Given the description of an element on the screen output the (x, y) to click on. 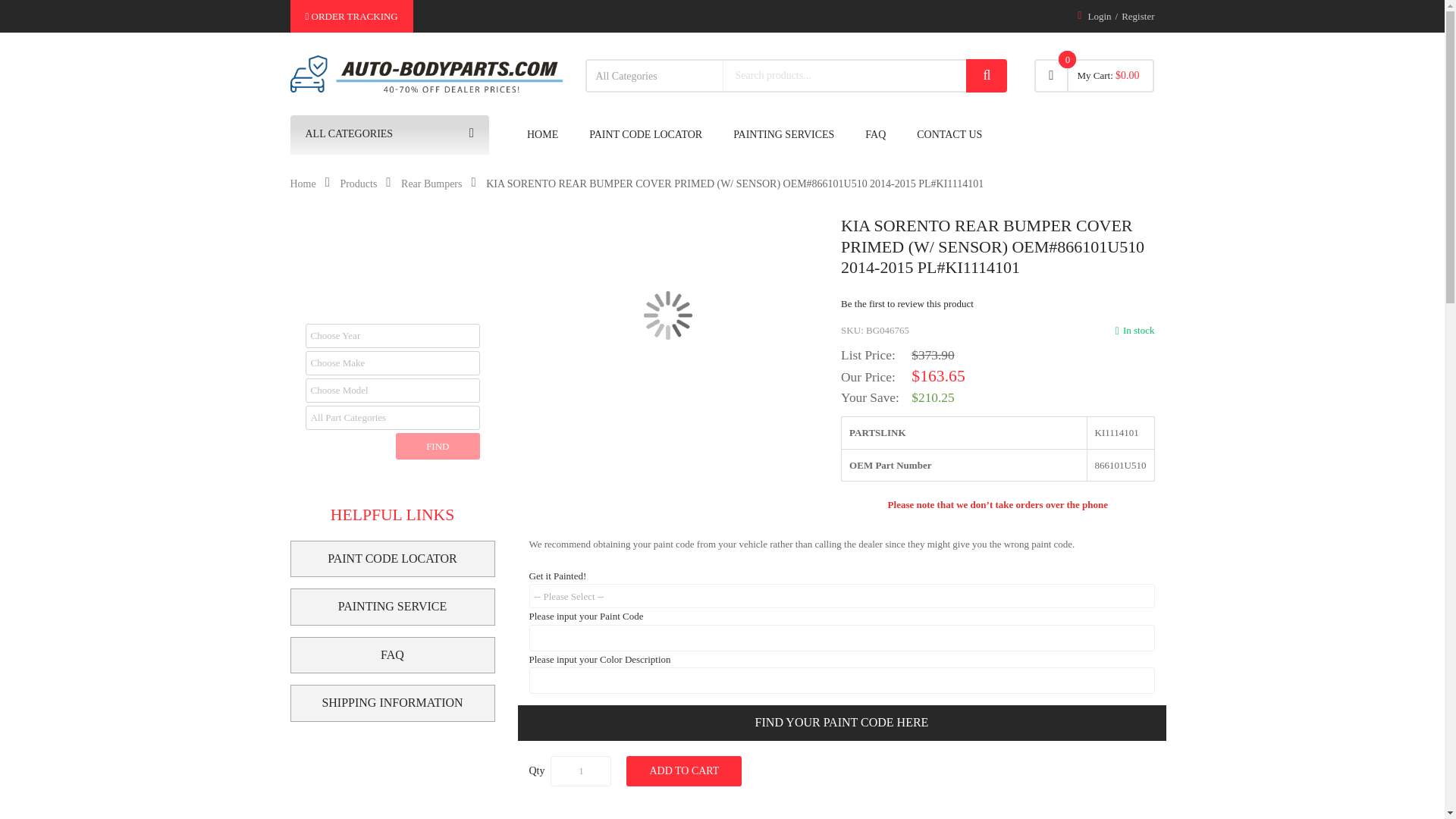
ORDER TRACKING (350, 16)
Home (302, 183)
PAINTING SERVICES (782, 134)
Add to Cart (683, 770)
1 (580, 770)
FAQ (875, 134)
Find (437, 446)
Reset (346, 446)
Go to Home Page (302, 183)
Search (986, 75)
